Given the description of an element on the screen output the (x, y) to click on. 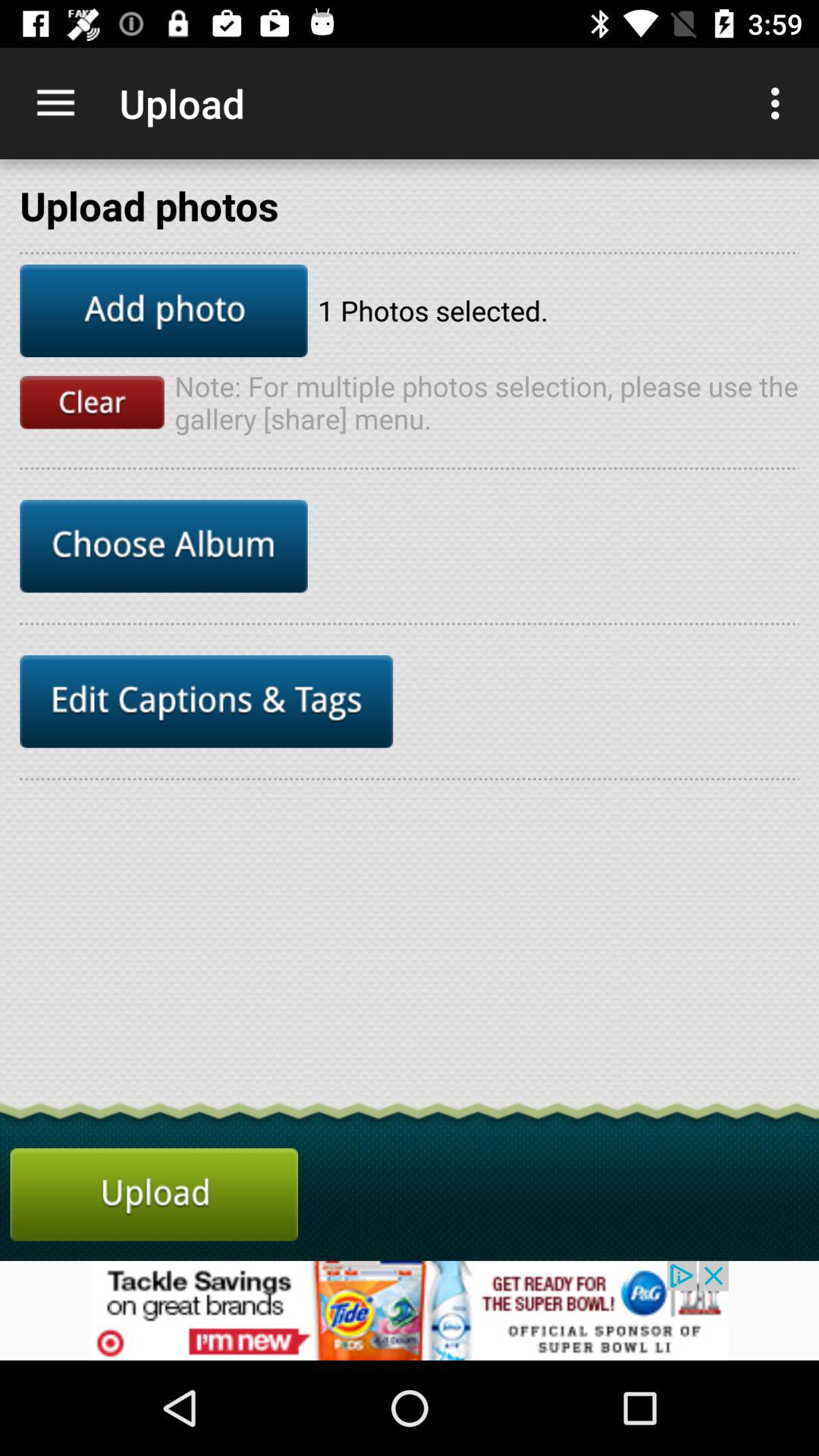
edit page (206, 701)
